Given the description of an element on the screen output the (x, y) to click on. 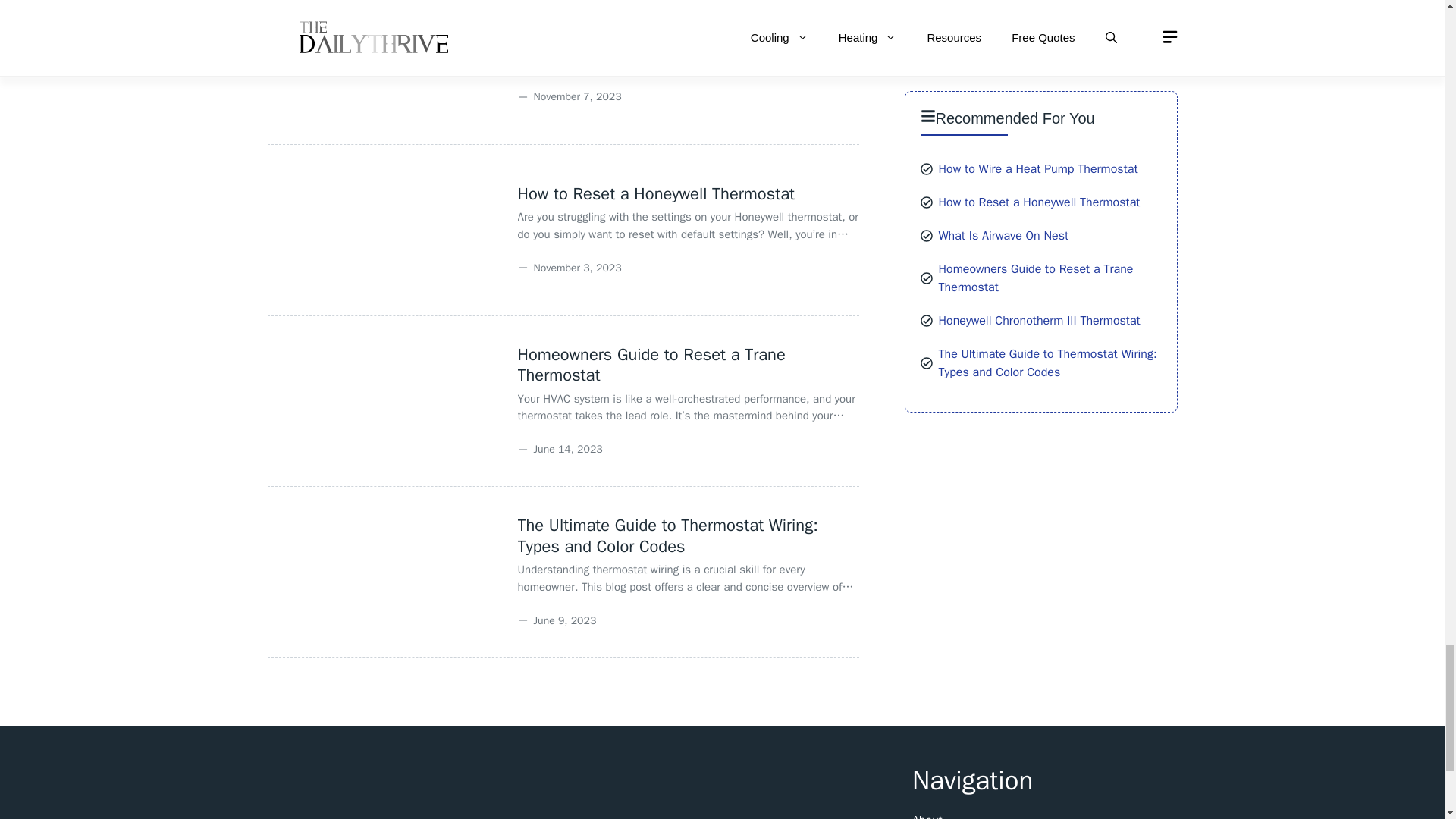
mobile logo thedailythrive (361, 786)
How to Wire a Heat Pump Thermostat (654, 22)
How to Reset a Honeywell Thermostat (655, 193)
